Given the description of an element on the screen output the (x, y) to click on. 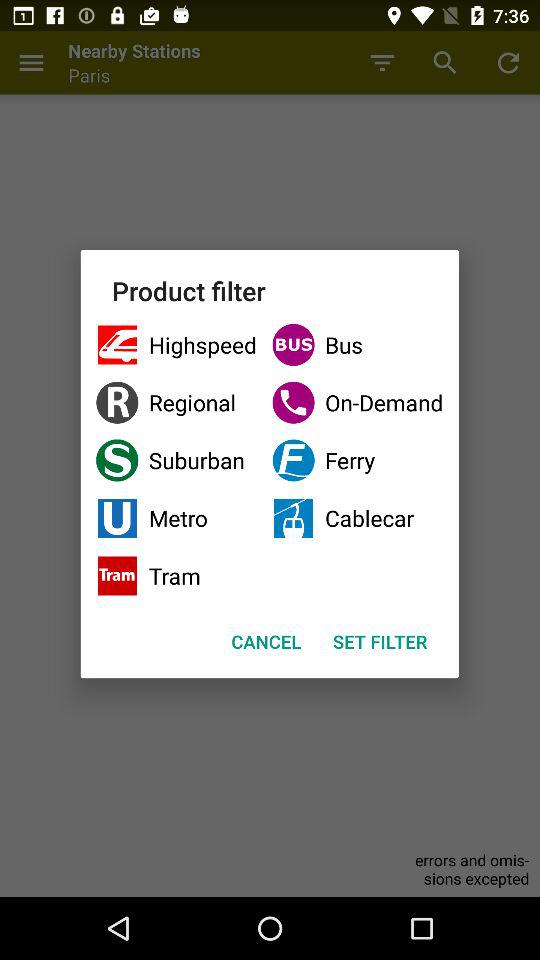
select checkbox next to the ferry item (176, 518)
